Given the description of an element on the screen output the (x, y) to click on. 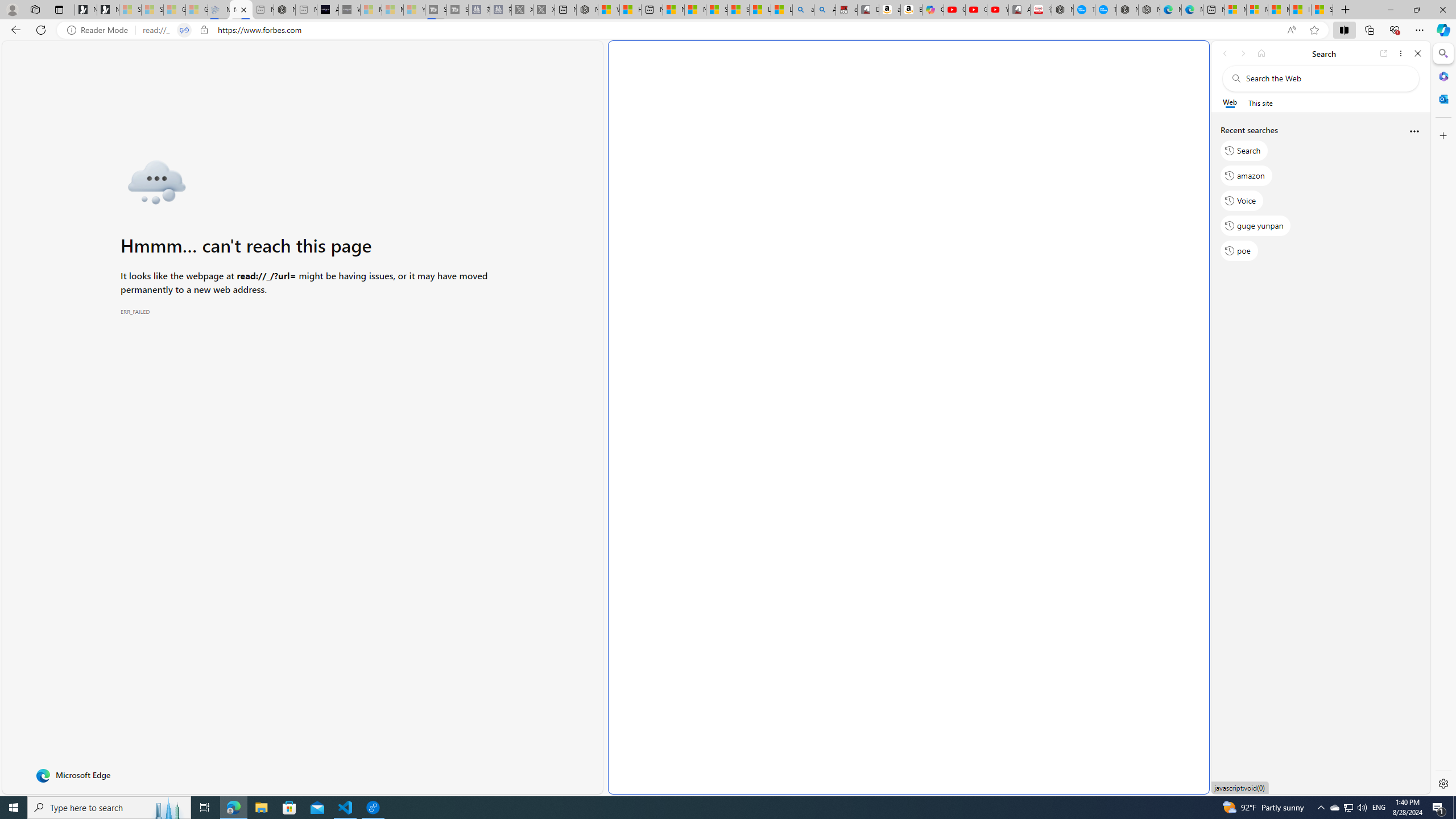
All Cubot phones (1019, 9)
App bar (728, 29)
Search the web (1326, 78)
Gloom - YouTube (975, 9)
Home (1261, 53)
Nordace - #1 Japanese Best-Seller - Siena Smart Backpack (284, 9)
Reader Mode (100, 29)
